Given the description of an element on the screen output the (x, y) to click on. 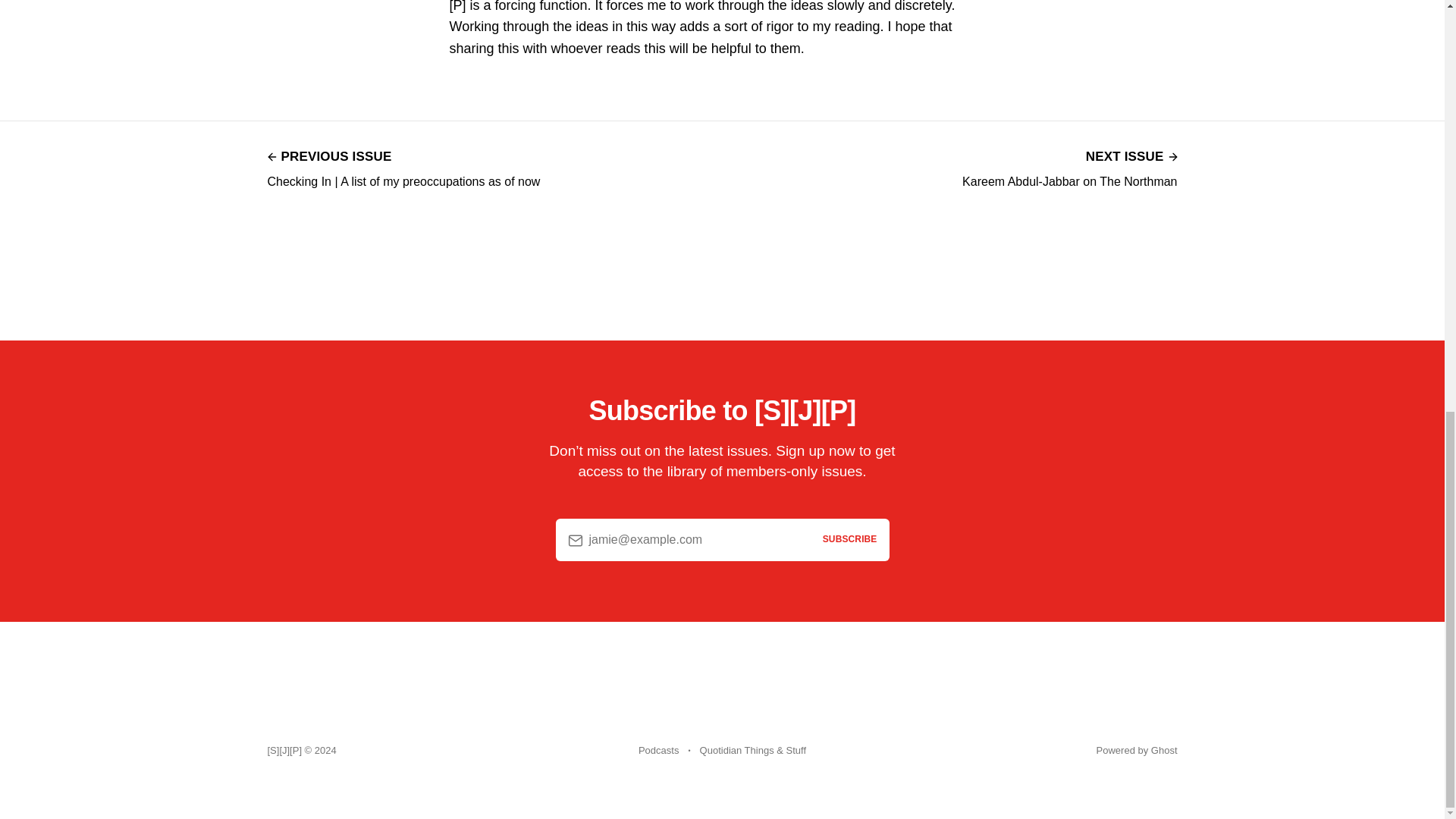
Powered by Ghost (1136, 749)
Podcasts (1069, 167)
